Given the description of an element on the screen output the (x, y) to click on. 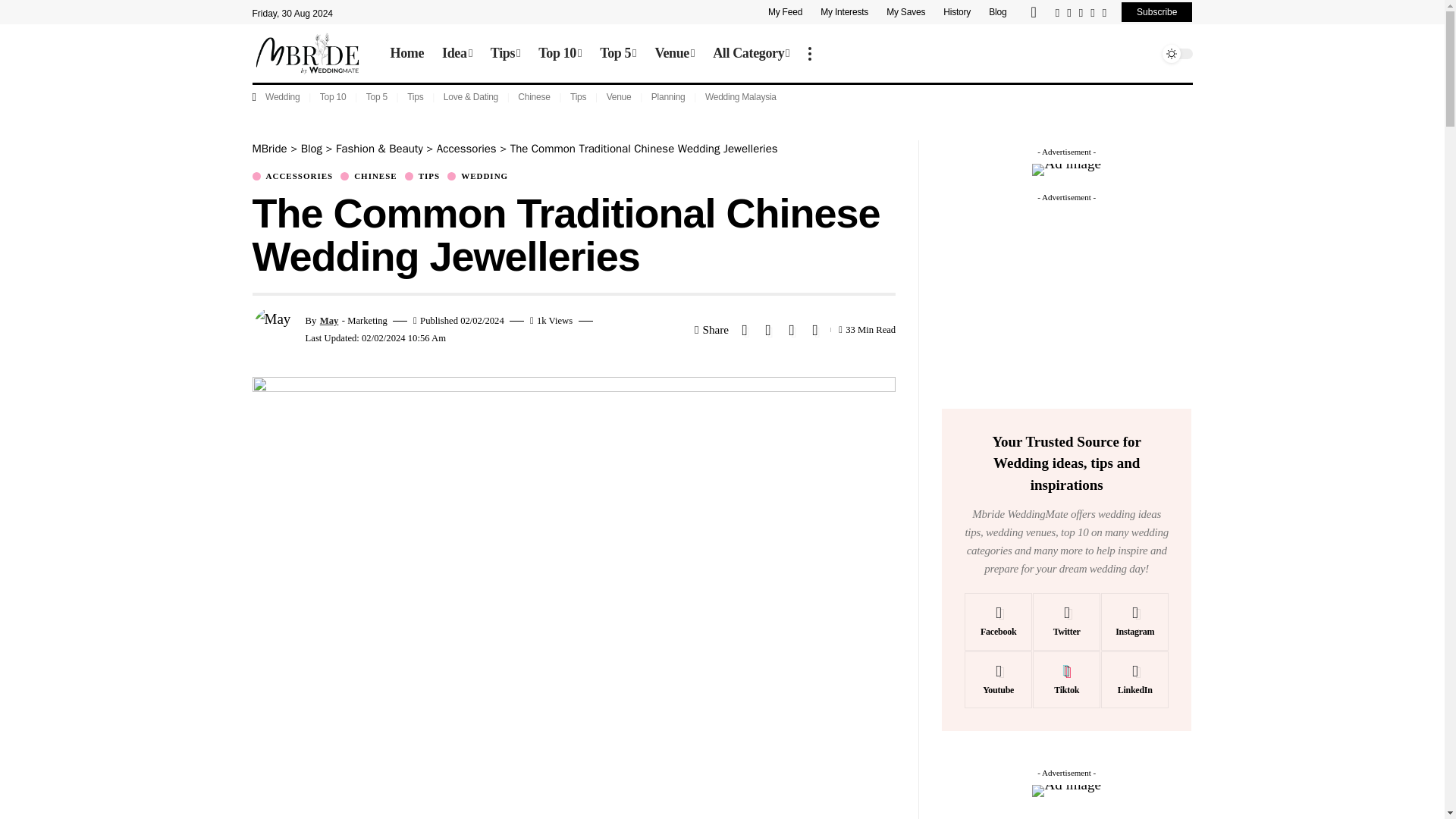
Idea (456, 54)
History (956, 11)
My Saves (905, 11)
Home (406, 54)
My Interests (843, 11)
My Feed (789, 11)
Subscribe (1156, 12)
Blog (996, 11)
